Given the description of an element on the screen output the (x, y) to click on. 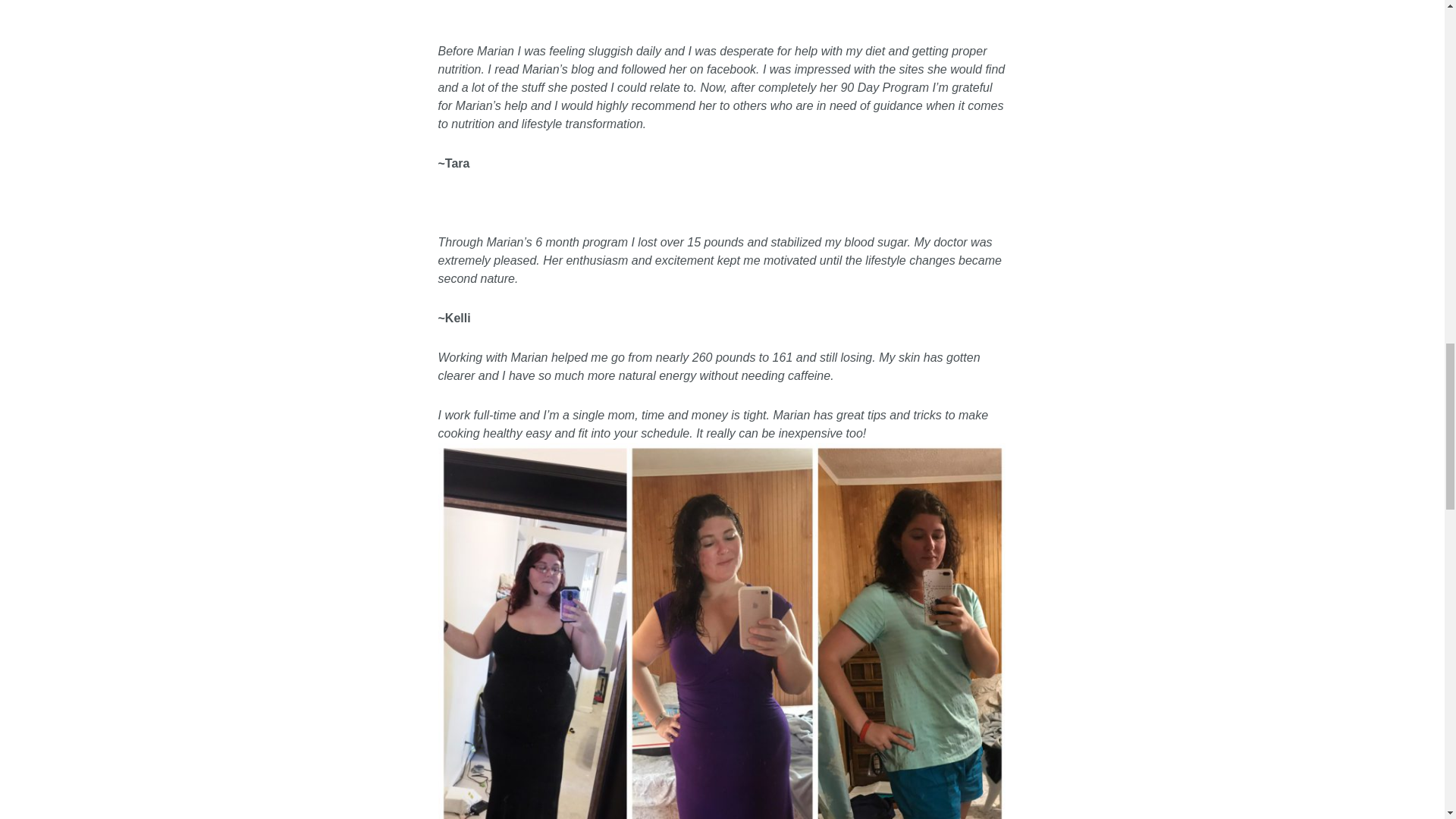
lifestyle transformation (582, 123)
